Given the description of an element on the screen output the (x, y) to click on. 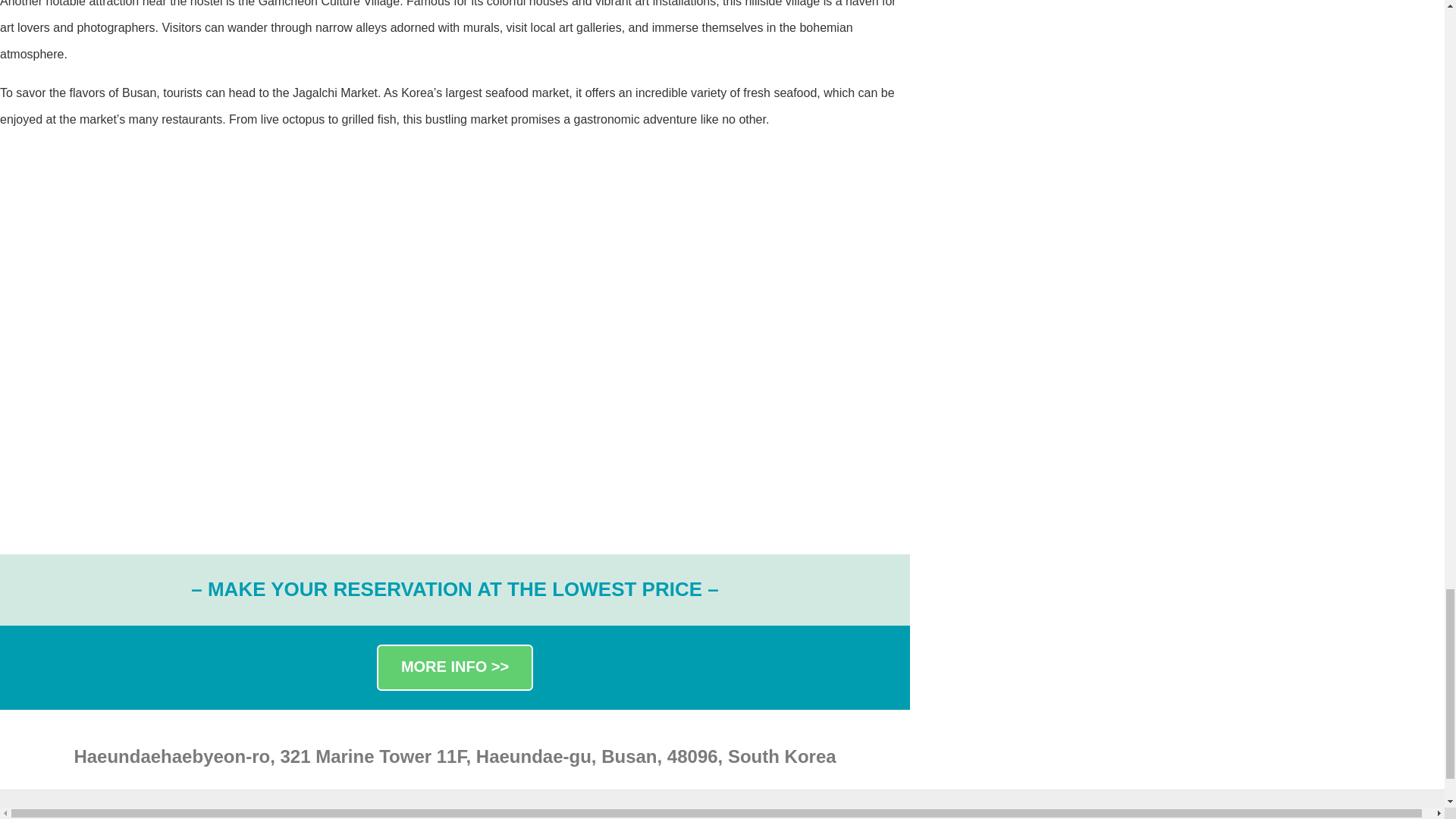
Busan Popcorn Hostel (153, 431)
Busan Popcorn Hostel (153, 247)
Busan Popcorn Hostel (454, 247)
